Given the description of an element on the screen output the (x, y) to click on. 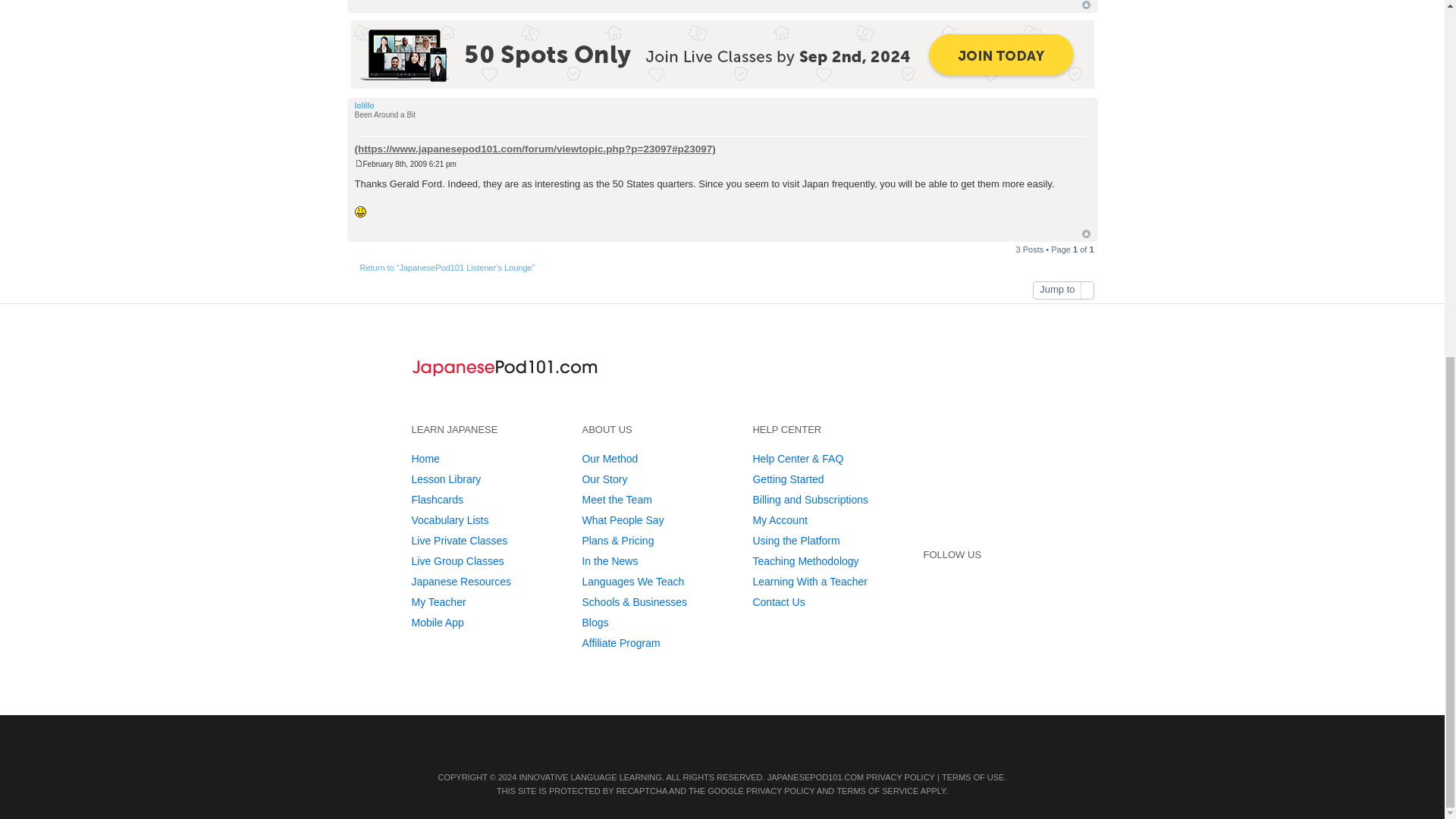
Start your 7-day free trial (969, 470)
Watch us on YouTube (963, 594)
Follow us on Twitter (935, 594)
Top (1085, 4)
Tumblr (935, 623)
Instagram (963, 623)
Top (1085, 234)
Find us on Facebook (993, 594)
Post (358, 163)
Jump to (1062, 290)
